Given the description of an element on the screen output the (x, y) to click on. 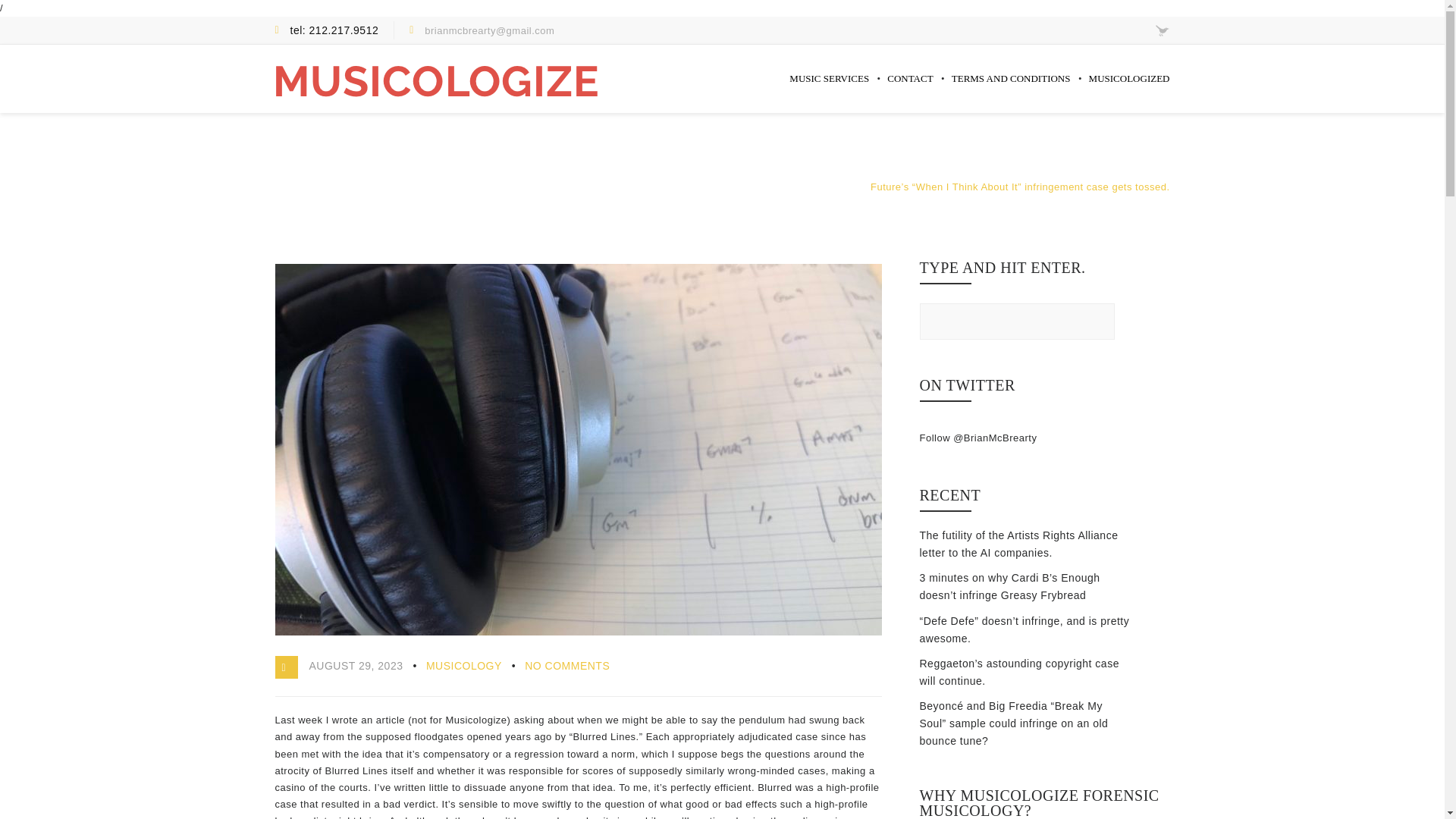
Home (779, 186)
MUSICOLOGIZED (1129, 91)
NO COMMENTS (567, 665)
Musicology (832, 186)
CONTACT (909, 91)
MUSICOLOGY (464, 665)
TERMS AND CONDITIONS (1011, 91)
MUSIC SERVICES (829, 91)
